Given the description of an element on the screen output the (x, y) to click on. 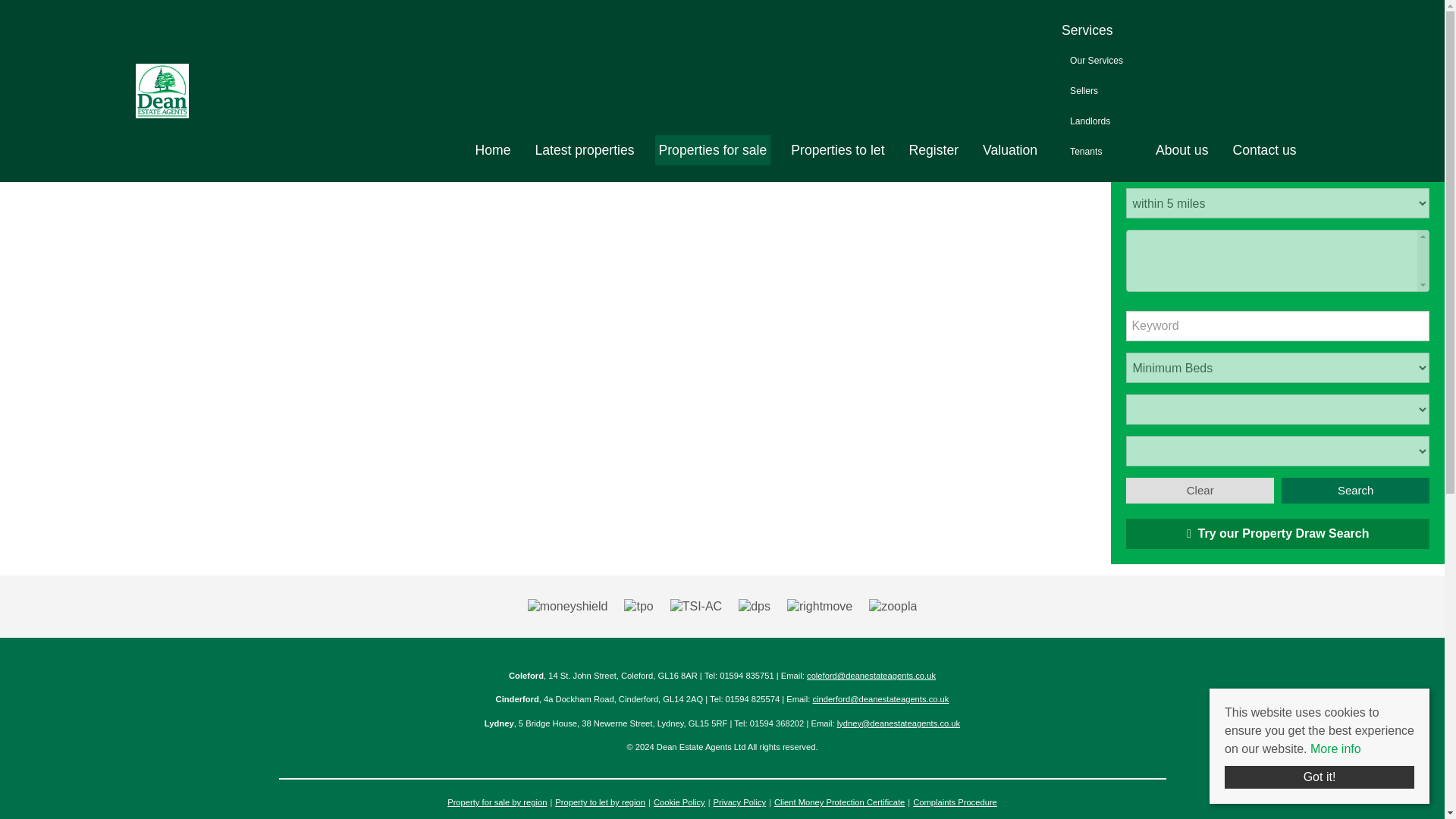
About us (1181, 150)
Properties to let (837, 150)
Cookie Policy (679, 801)
Property to let by region (599, 801)
  Try our Property Draw Search (1277, 533)
Valuation (1009, 150)
Properties for sale (713, 150)
Property for sale by region (496, 801)
Register (933, 150)
Client Money Protection Certificate (839, 801)
